Given the description of an element on the screen output the (x, y) to click on. 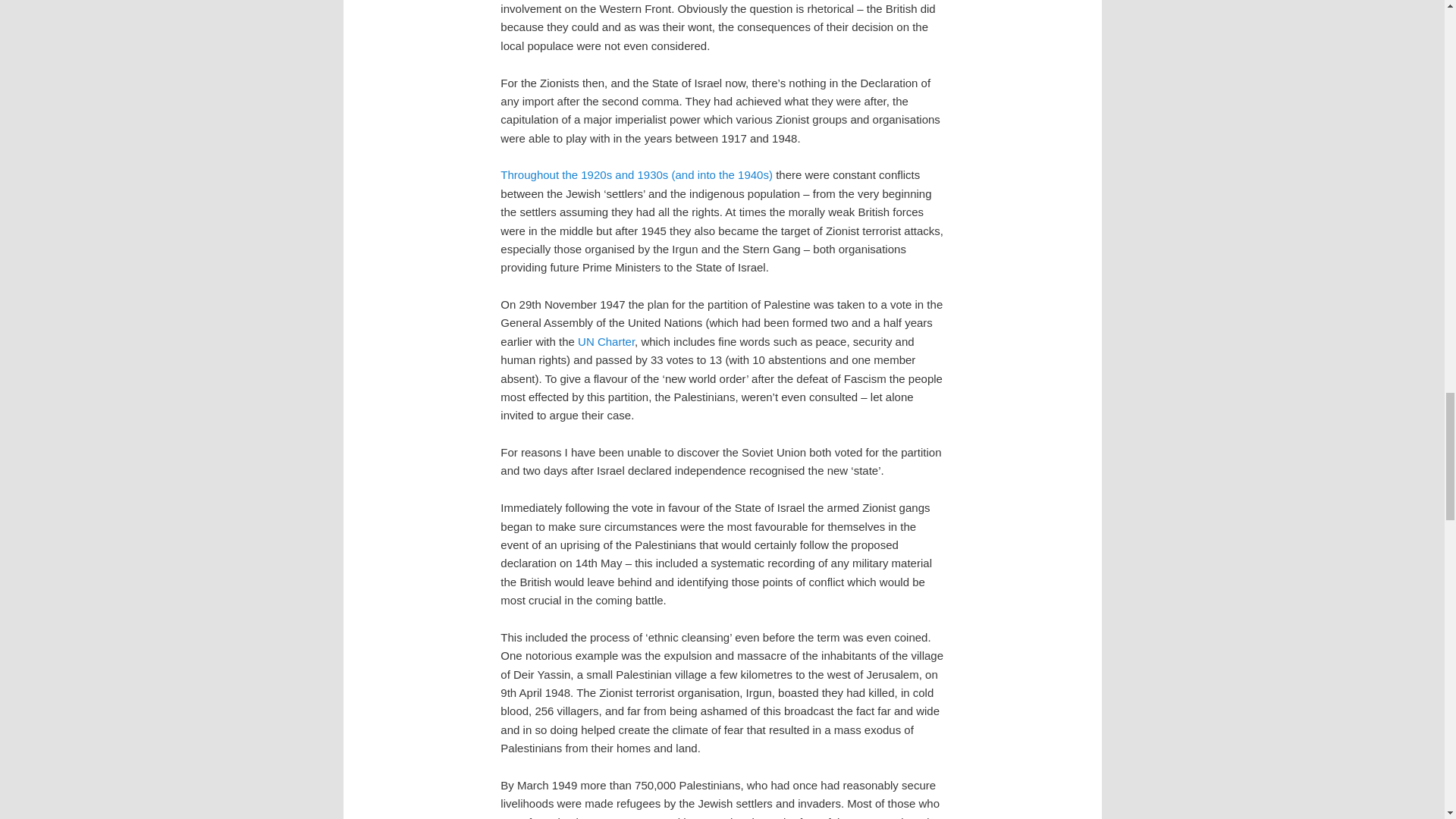
UN Charter (606, 341)
